Given the description of an element on the screen output the (x, y) to click on. 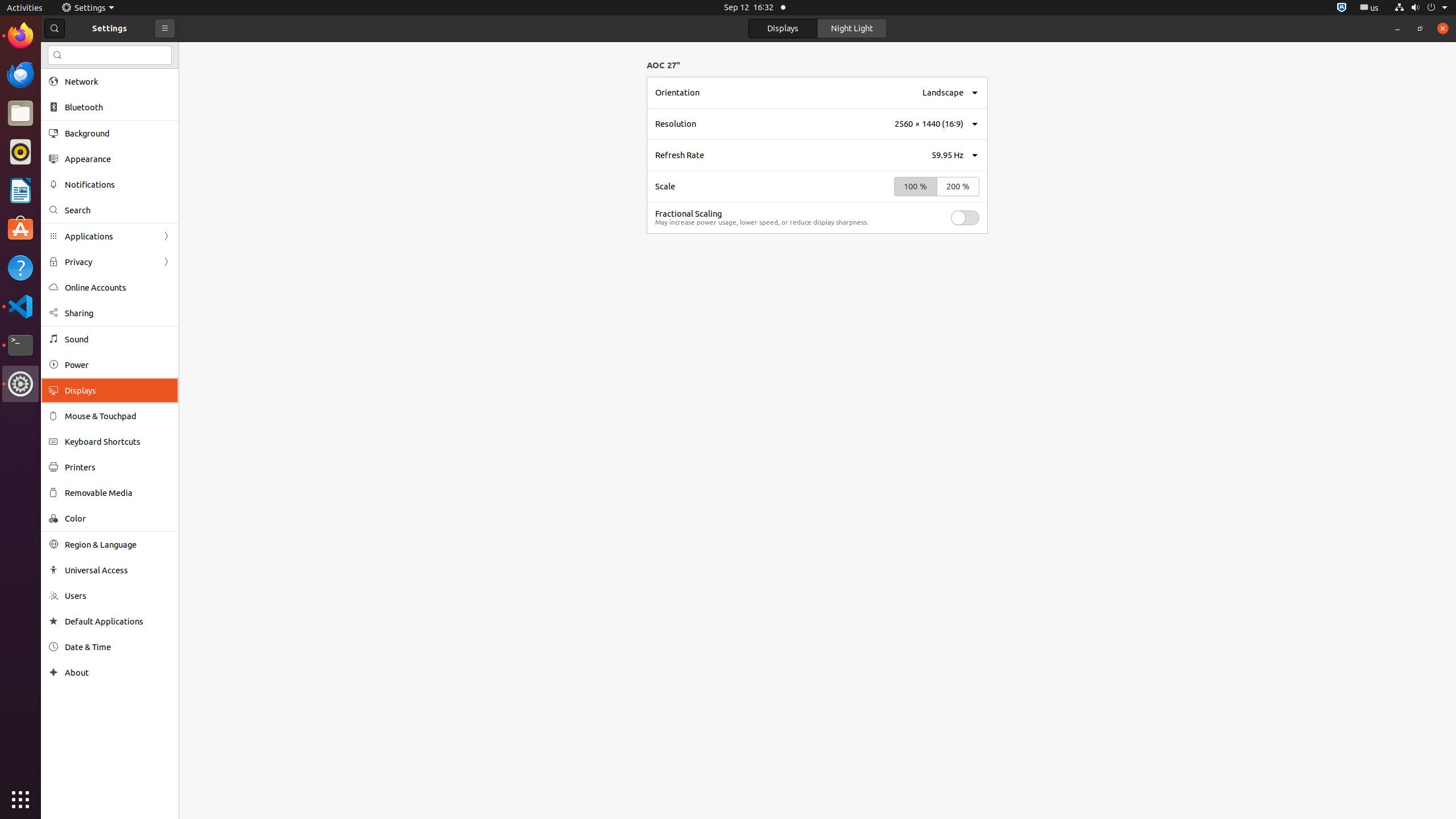
Removable Media Element type: label (117, 492)
Night Light Element type: radio-button (851, 28)
edit-find-symbolic Element type: icon (56, 54)
Search Element type: label (117, 209)
